Given the description of an element on the screen output the (x, y) to click on. 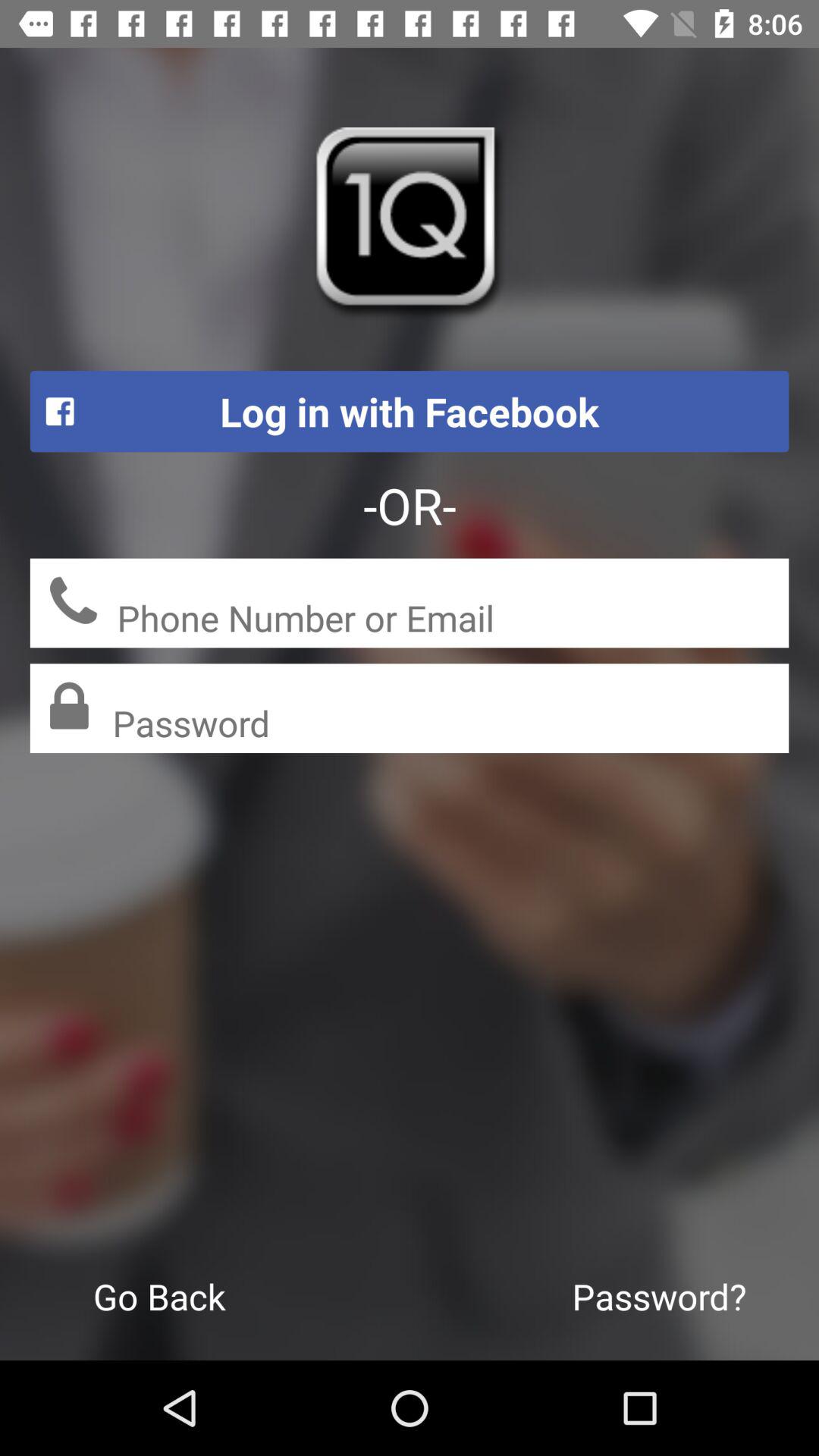
swipe to password? (658, 1296)
